Given the description of an element on the screen output the (x, y) to click on. 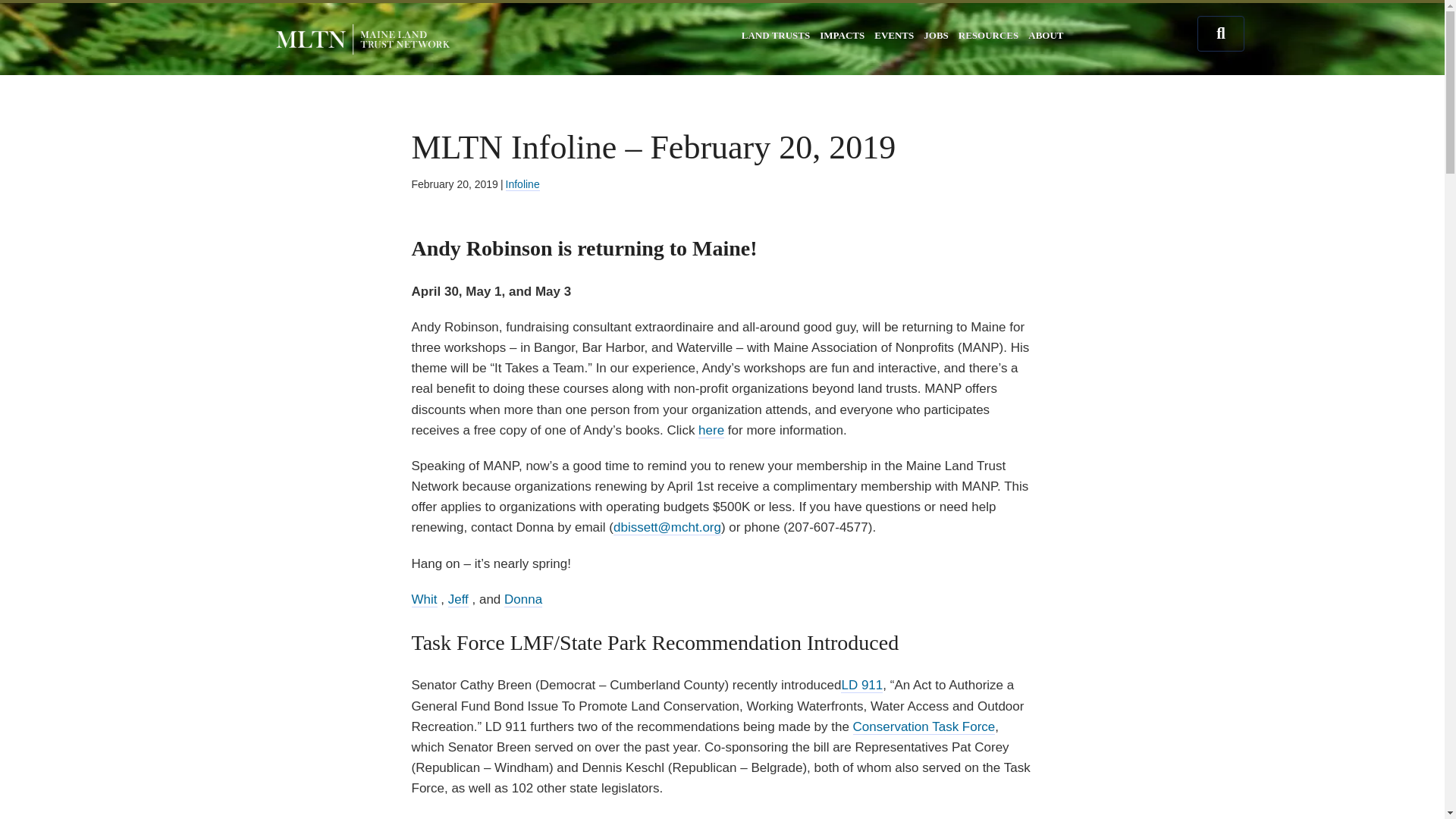
EVENTS (893, 35)
LAND TRUSTS (774, 35)
ABOUT (1045, 35)
RESOURCES (988, 35)
IMPACTS (842, 35)
